Given the description of an element on the screen output the (x, y) to click on. 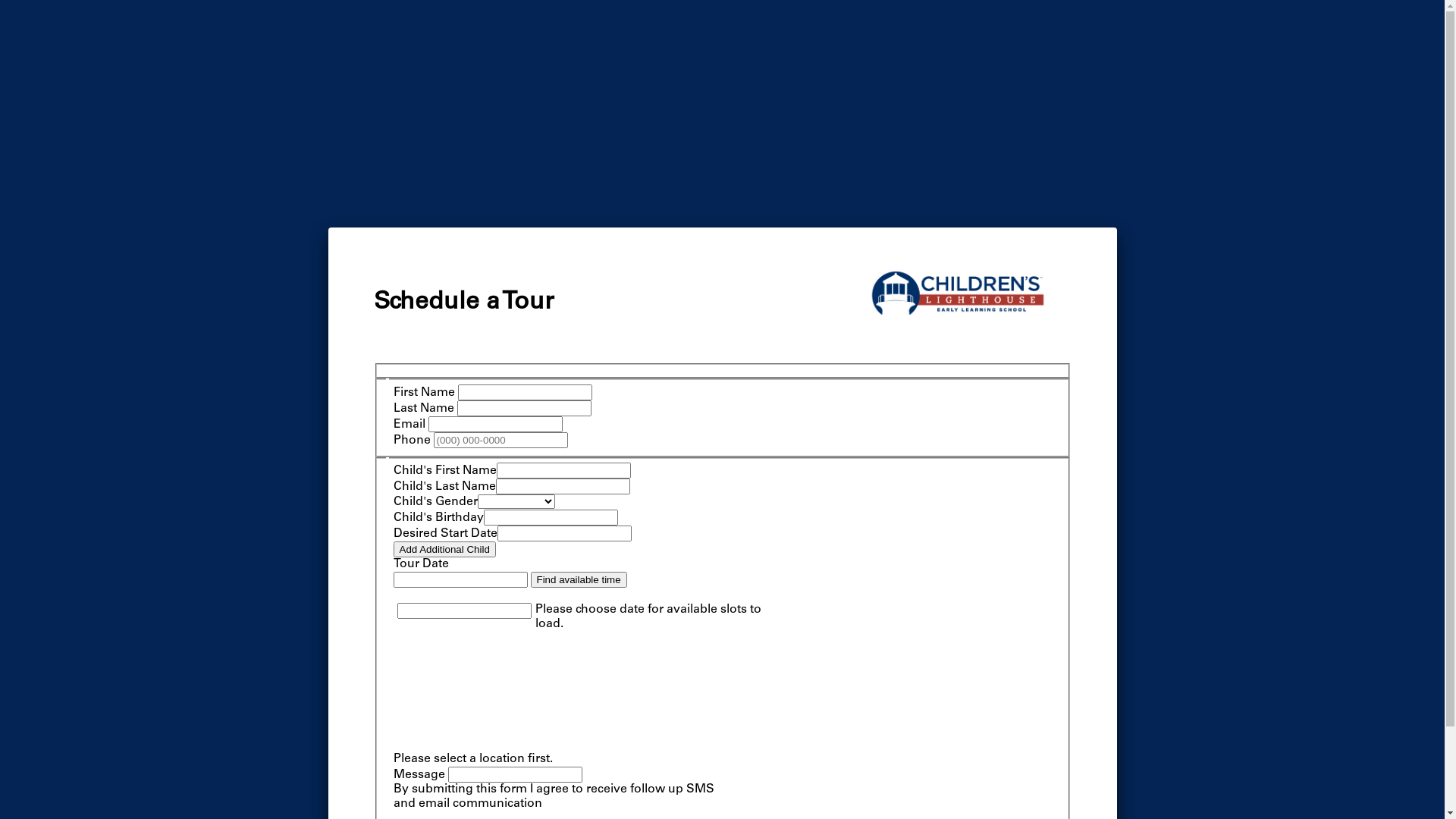
Find available time Element type: text (578, 579)
Add Additional Child Element type: text (443, 549)
